Given the description of an element on the screen output the (x, y) to click on. 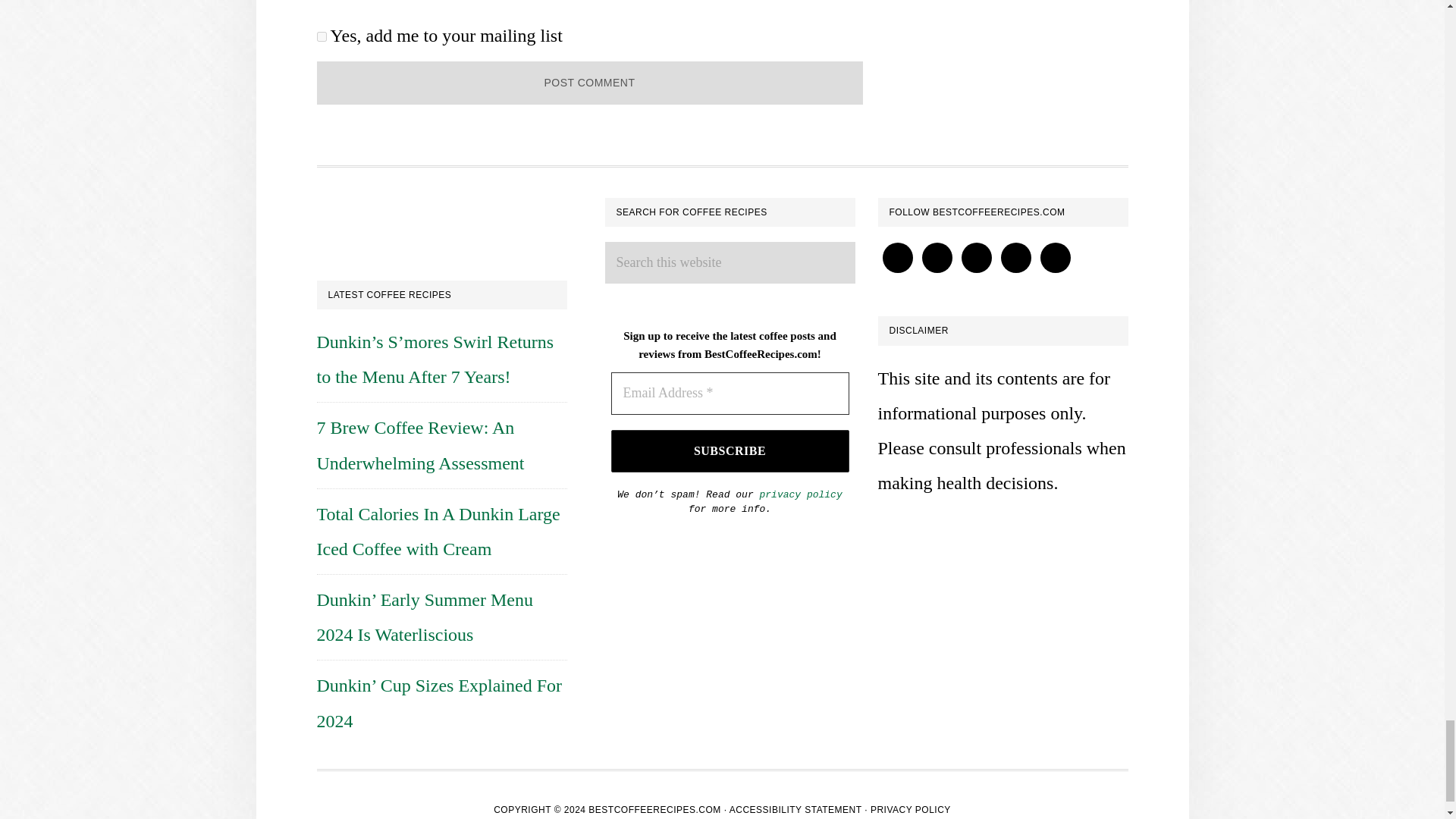
1 (321, 36)
Email Address (729, 393)
Post Comment (590, 82)
Subscribe (729, 450)
Post Comment (590, 82)
